Given the description of an element on the screen output the (x, y) to click on. 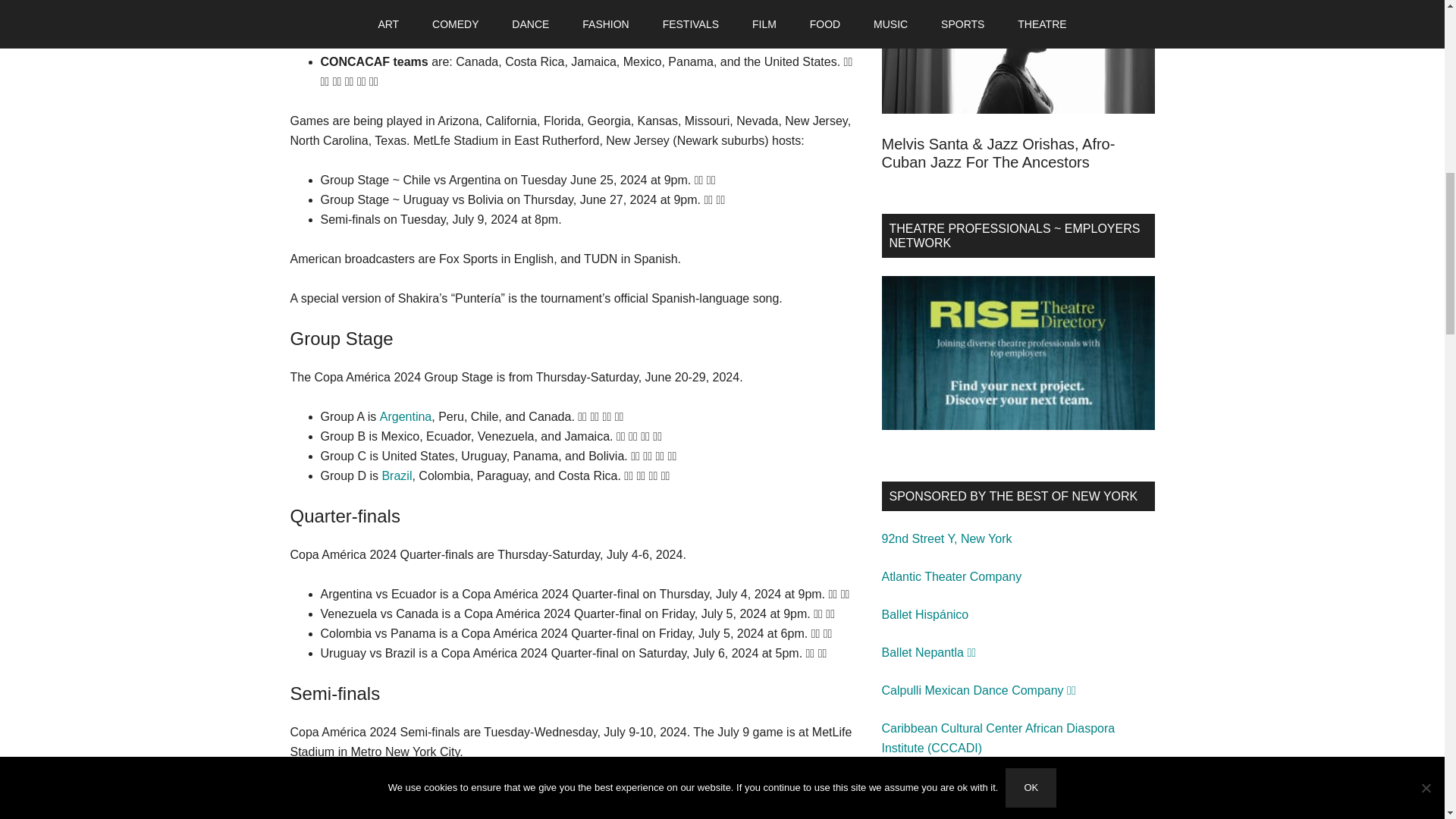
Brazil (396, 475)
Argentina (406, 416)
